Given the description of an element on the screen output the (x, y) to click on. 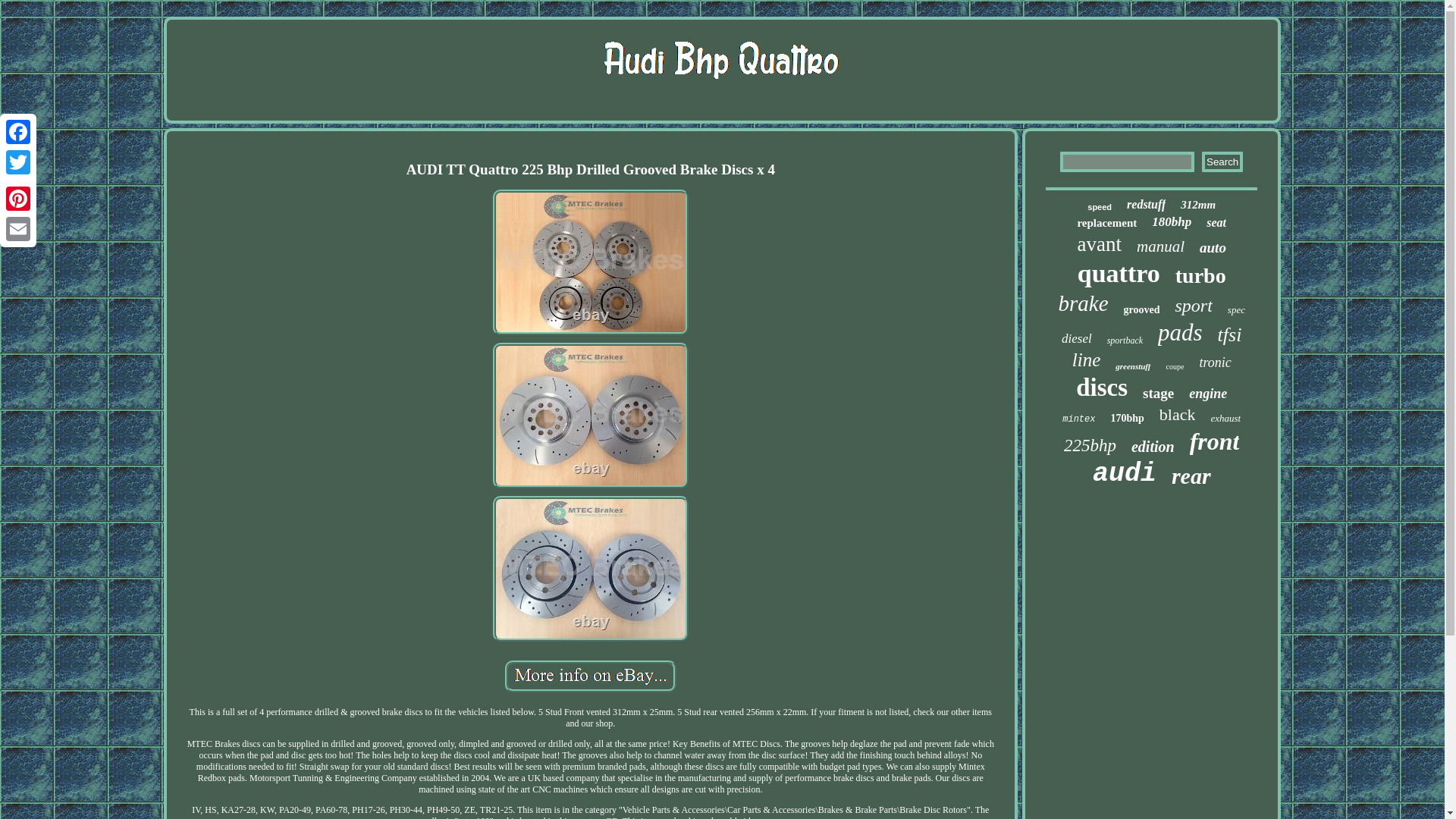
seat (1216, 223)
AUDI TT Quattro 225 Bhp Drilled Grooved Brake Discs x 4 (590, 568)
manual (1161, 246)
Search (1222, 161)
avant (1099, 244)
Pinterest (17, 198)
312mm (1197, 205)
auto (1212, 247)
diesel (1076, 338)
sportback (1124, 340)
brake (1083, 303)
Twitter (17, 162)
grooved (1142, 309)
Facebook (17, 132)
